Given the description of an element on the screen output the (x, y) to click on. 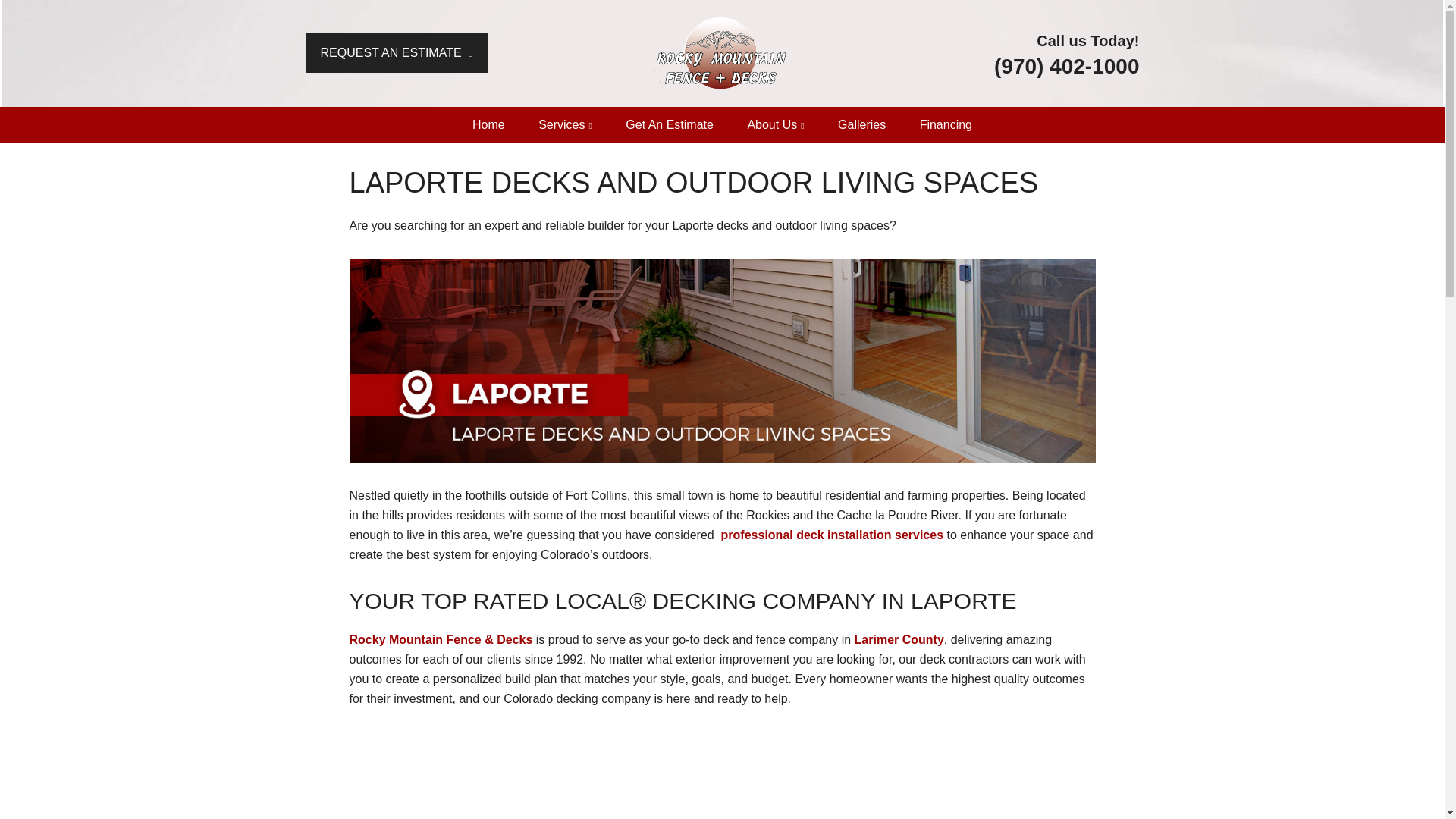
About Us (775, 125)
REQUEST AN ESTIMATE (395, 52)
Services (564, 125)
Get An Estimate (669, 125)
Home (488, 125)
